Given the description of an element on the screen output the (x, y) to click on. 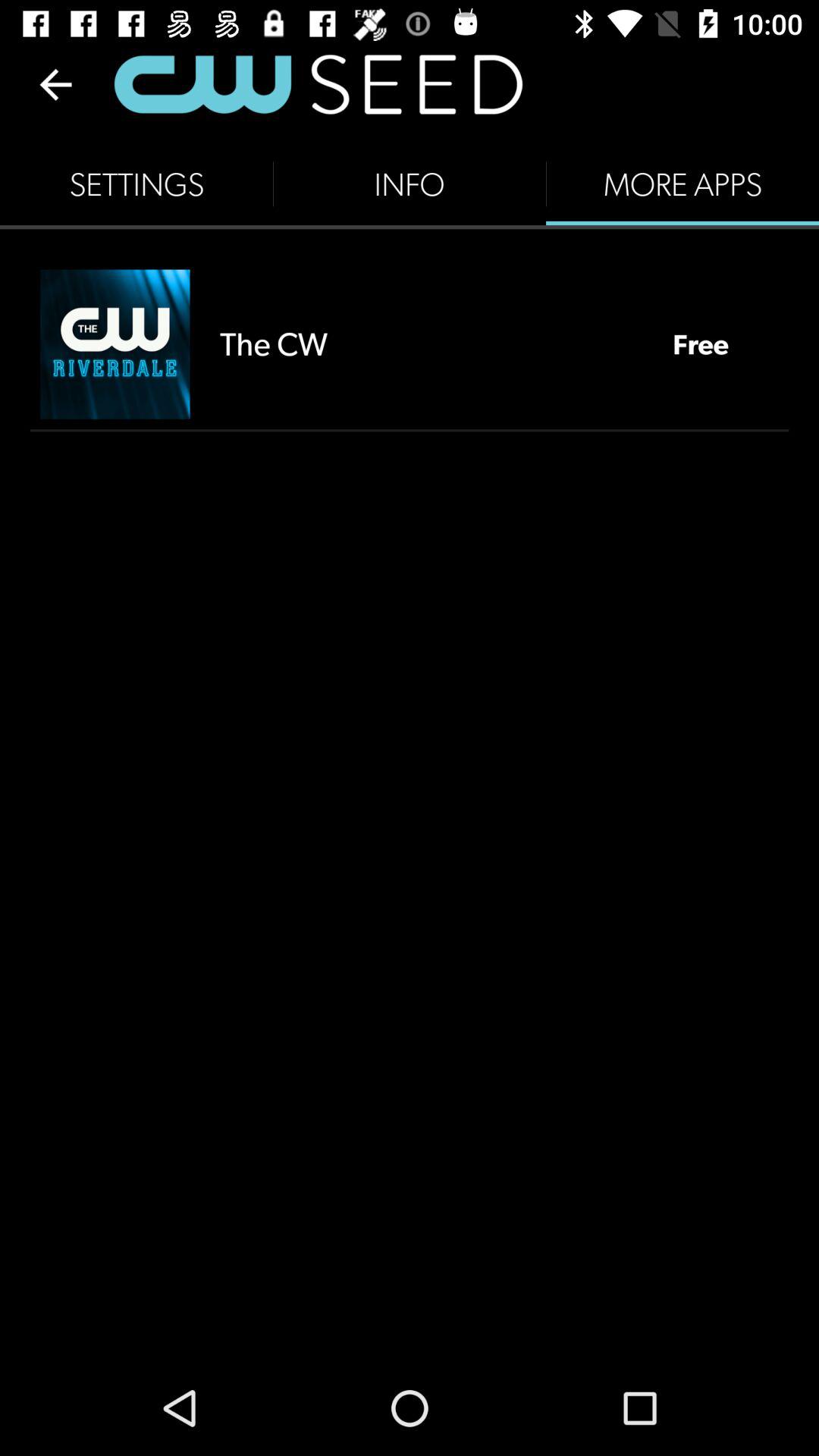
jump until the the cw item (431, 343)
